Given the description of an element on the screen output the (x, y) to click on. 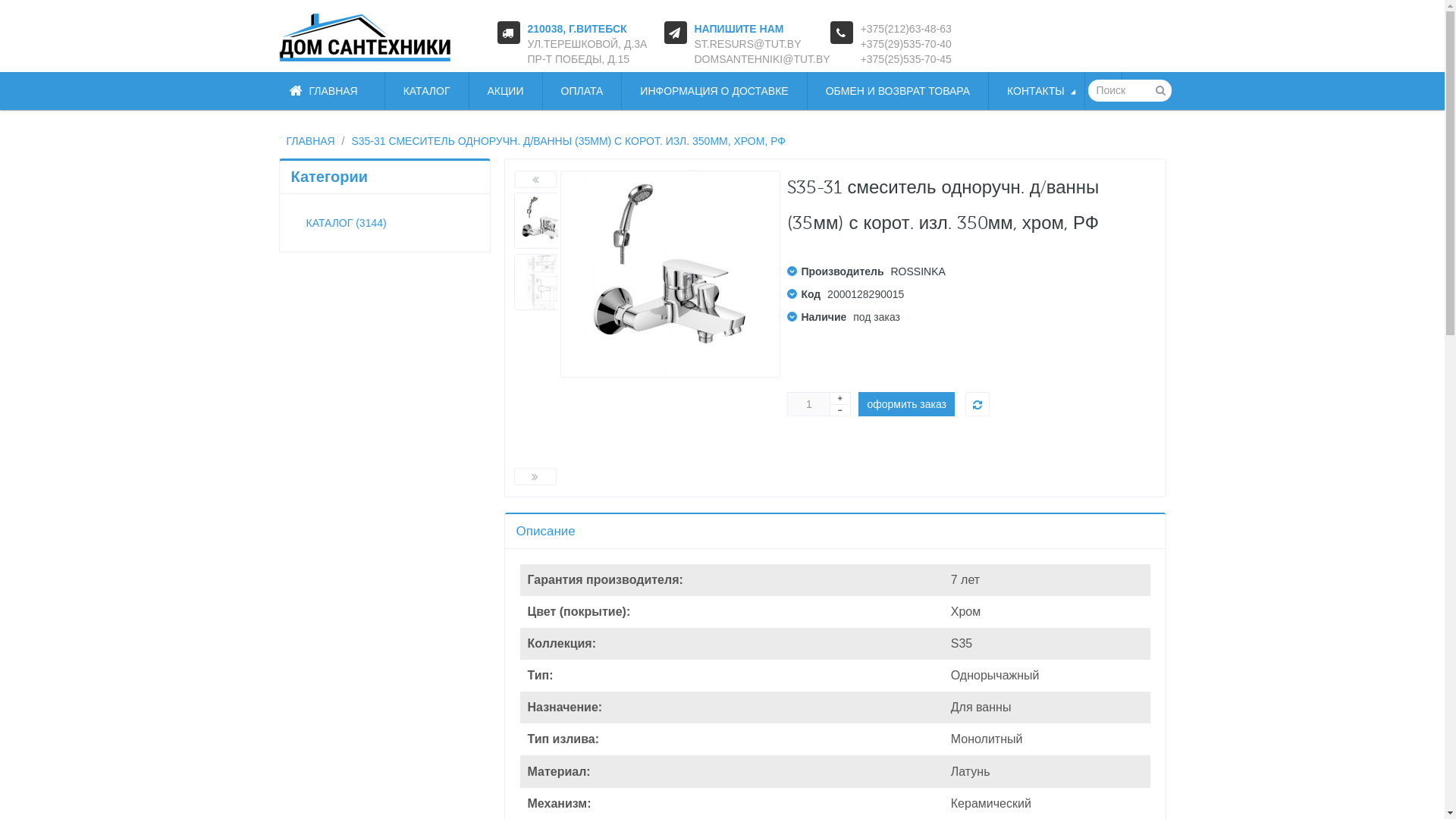
ROSSINKA Element type: text (917, 271)
  +375(212)63-48-63
+375(29)535-70-40
+375(25)535-70-45 Element type: text (906, 43)
